Given the description of an element on the screen output the (x, y) to click on. 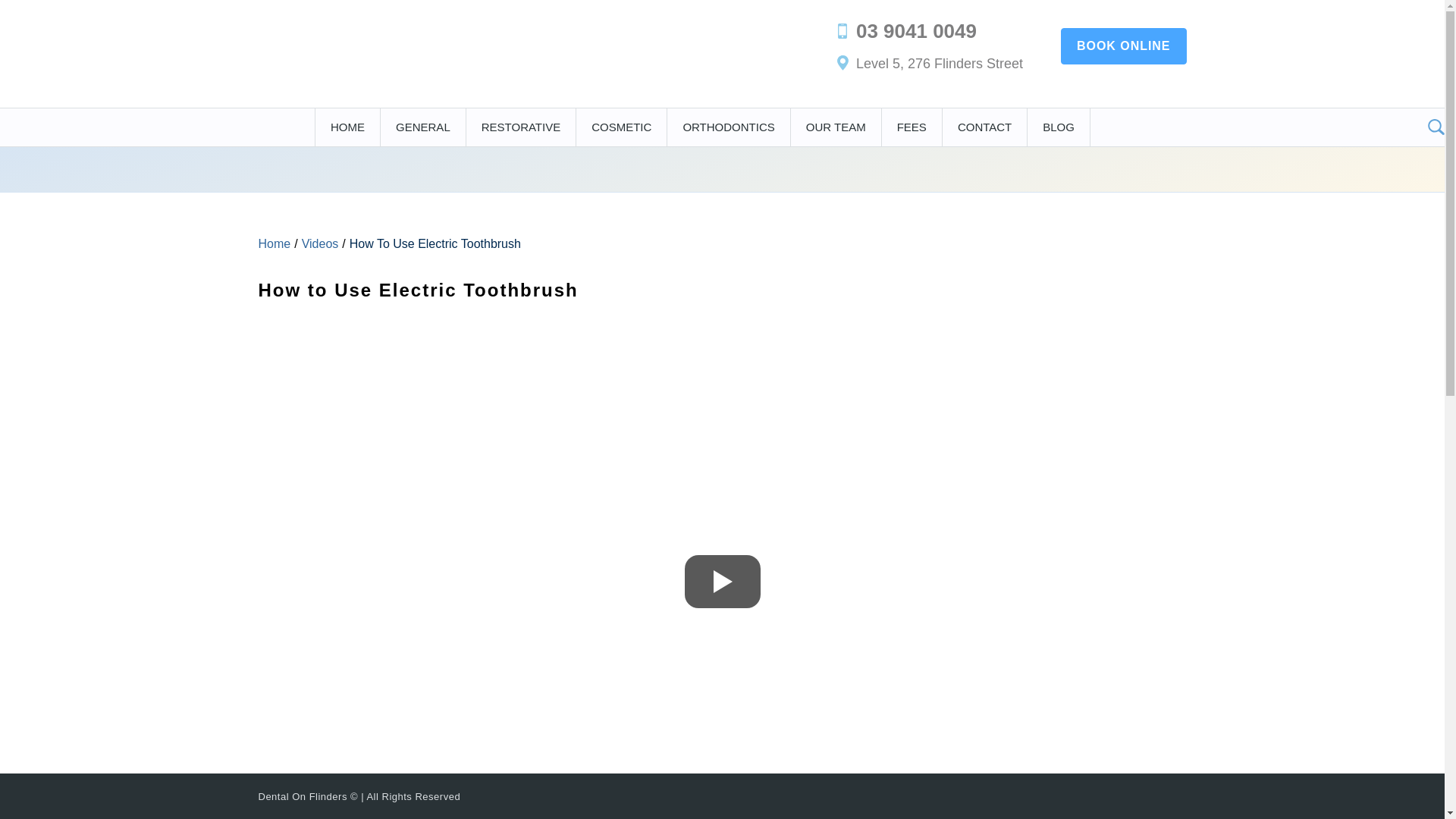
RESTORATIVE Element type: text (520, 127)
Dental on Flinders Element type: hover (356, 44)
CONTACT Element type: text (984, 127)
Home Element type: text (273, 243)
ORTHODONTICS Element type: text (728, 127)
HOME Element type: text (347, 127)
FEES Element type: text (911, 127)
COSMETIC Element type: text (621, 127)
How To Use Electric Toothbrush Element type: text (434, 243)
BOOK ONLINE Element type: text (1123, 45)
Dental on Flinders - Home page Element type: hover (356, 45)
BLOG Element type: text (1058, 127)
03 9041 0049 Element type: text (916, 30)
Videos Element type: text (319, 243)
GENERAL Element type: text (422, 127)
OUR TEAM Element type: text (835, 127)
